Given the description of an element on the screen output the (x, y) to click on. 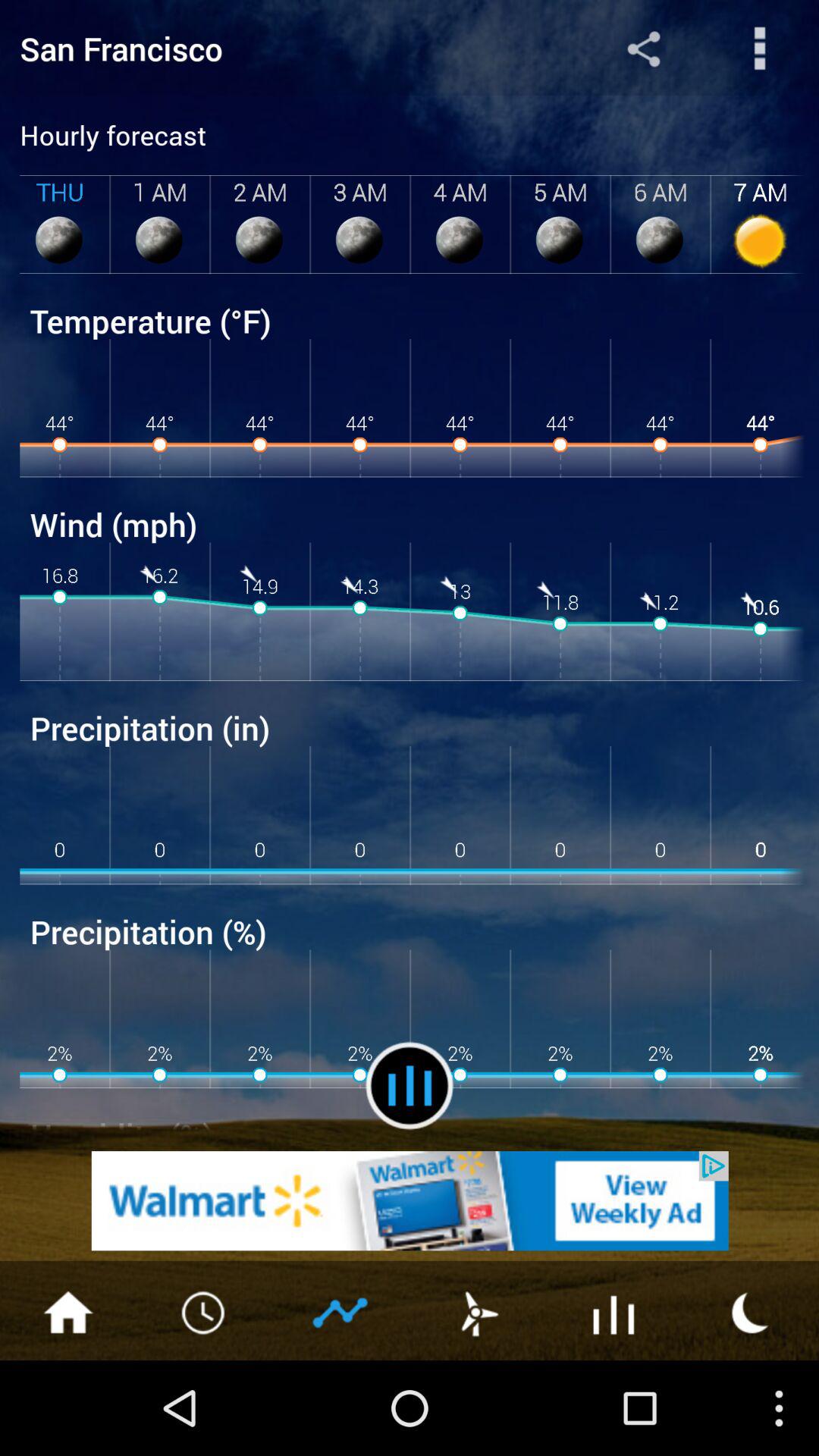
search information (759, 48)
